Given the description of an element on the screen output the (x, y) to click on. 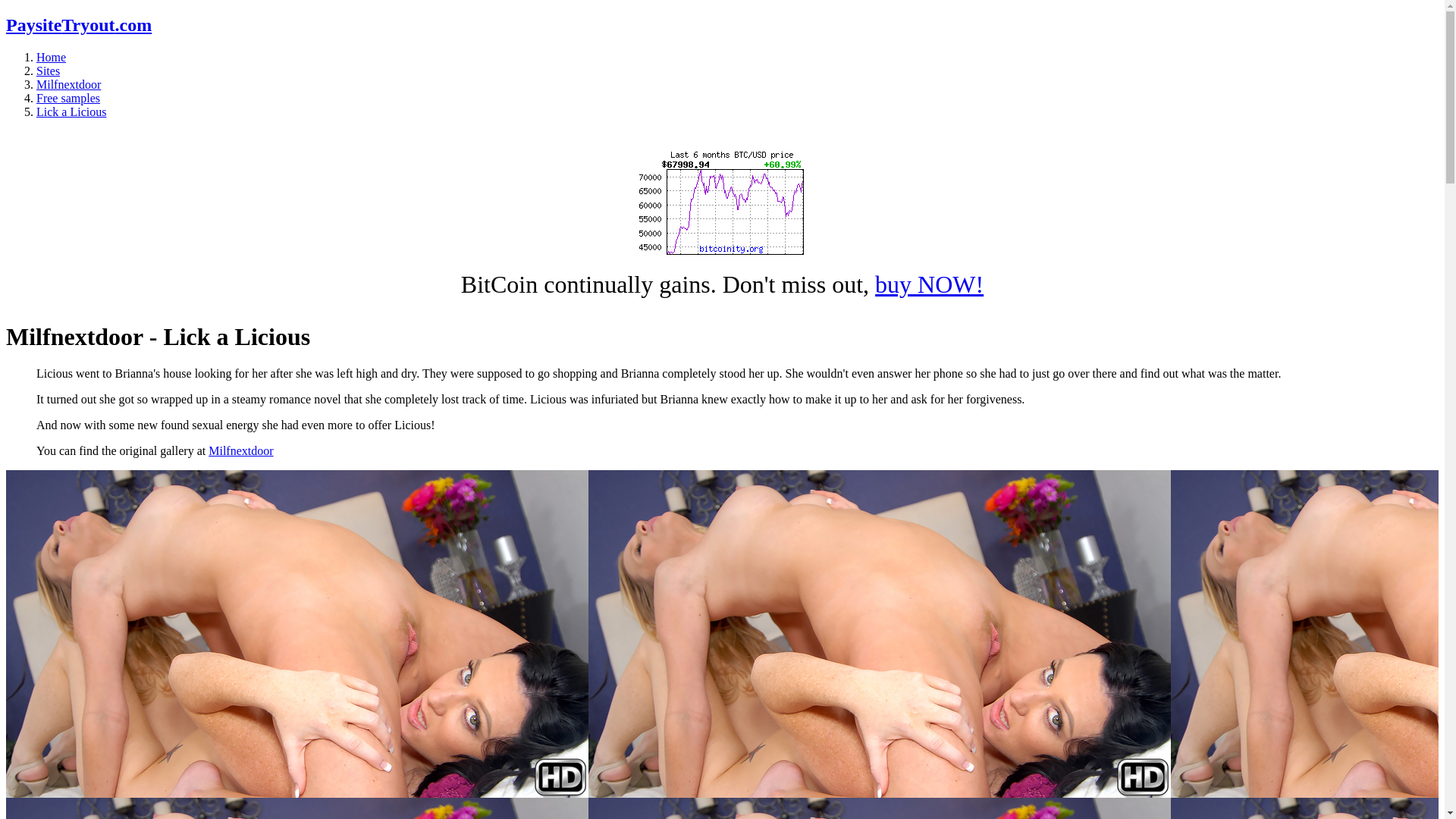
Milfnextdoor (68, 83)
Milfnextdoor (240, 450)
Sites (47, 70)
buy NOW! (929, 284)
Free samples (68, 97)
Home (50, 56)
Lick a Licious (71, 111)
